Given the description of an element on the screen output the (x, y) to click on. 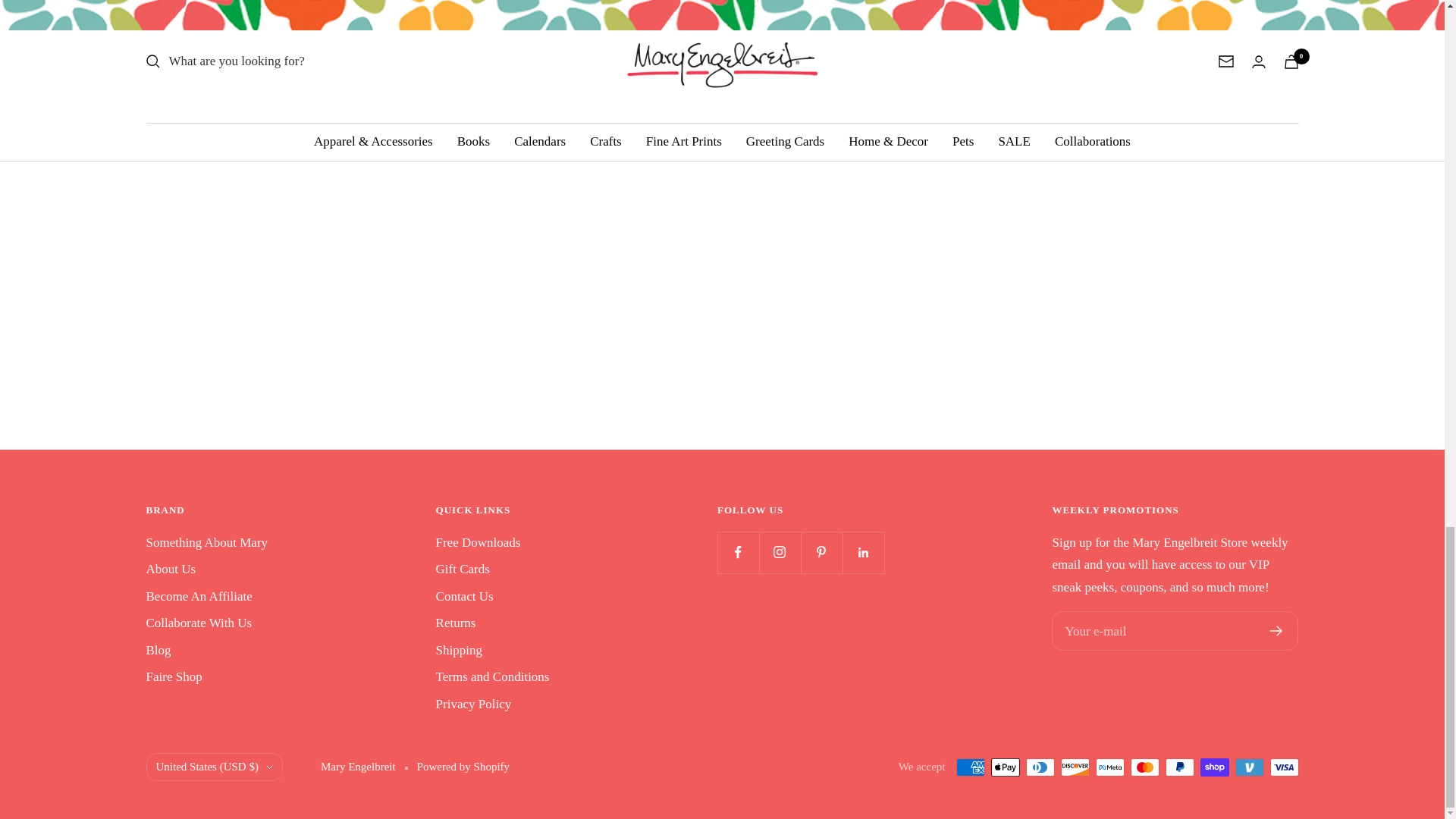
Register (1275, 630)
